Given the description of an element on the screen output the (x, y) to click on. 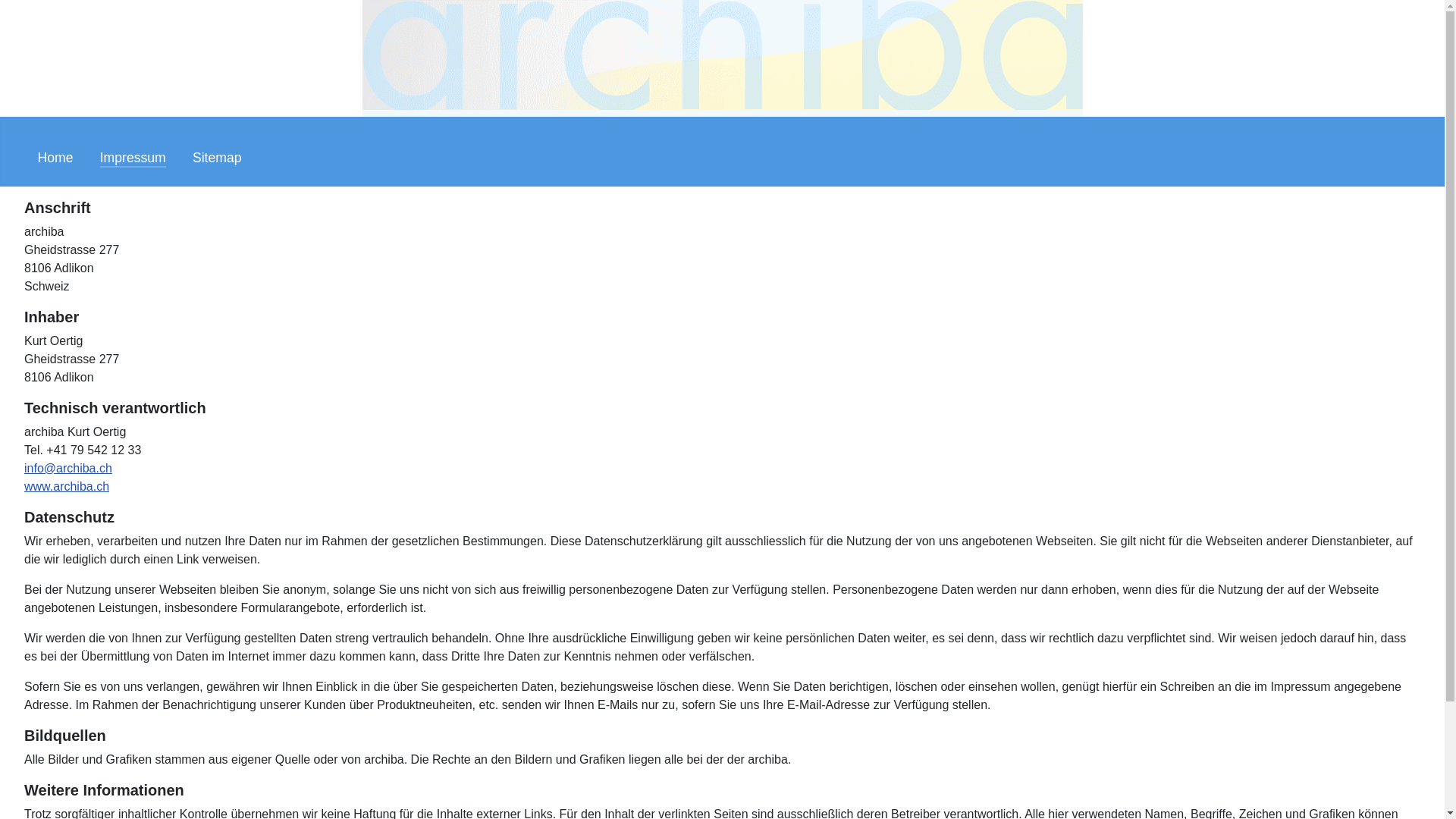
www.archiba.ch Element type: text (66, 486)
Sitemap Element type: text (216, 157)
Home Element type: text (55, 157)
Impressum Element type: text (133, 157)
info@archiba.ch Element type: text (68, 467)
